Given the description of an element on the screen output the (x, y) to click on. 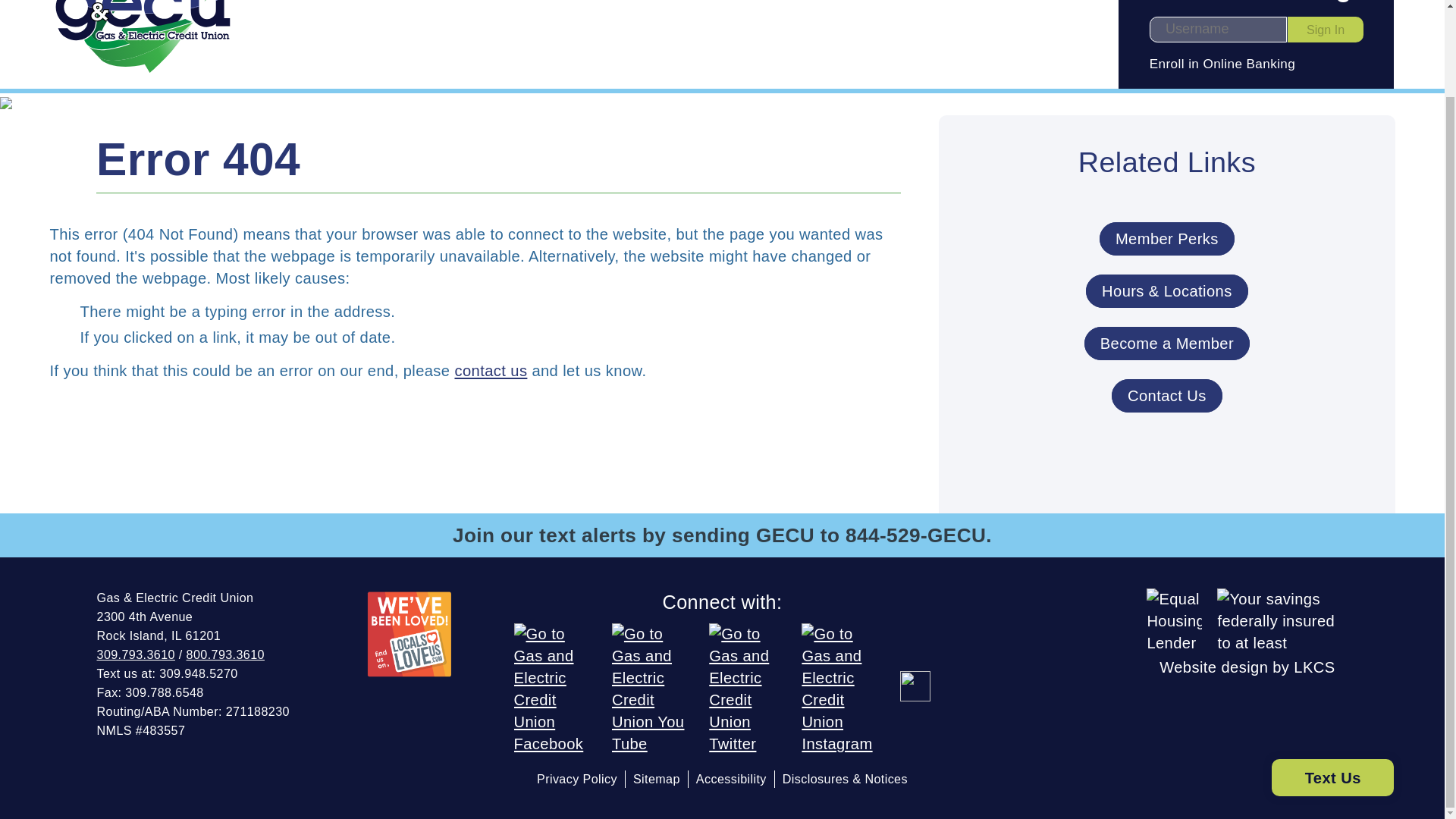
tiktok (914, 685)
Locals Love Us (409, 634)
Gas and Electric Logo (142, 38)
NCUA Logo (1282, 619)
Equal Housing Lender Logo (1174, 619)
